Given the description of an element on the screen output the (x, y) to click on. 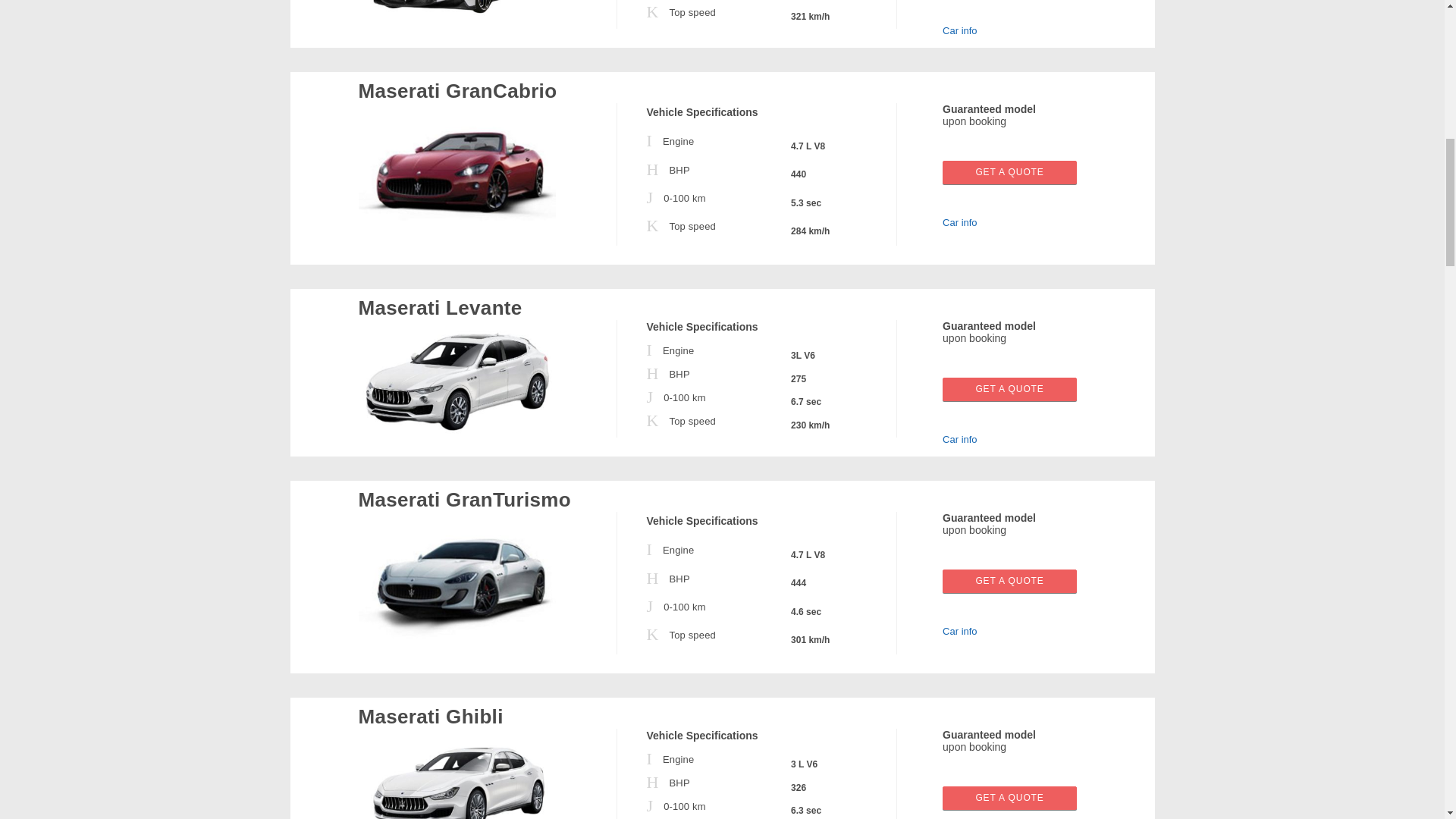
Maserati Ghibli (456, 777)
Maserati GranCabrio (456, 176)
Maserati GranTurismo (456, 585)
Maserati MC20 (456, 13)
Maserati Levante (456, 380)
